Given the description of an element on the screen output the (x, y) to click on. 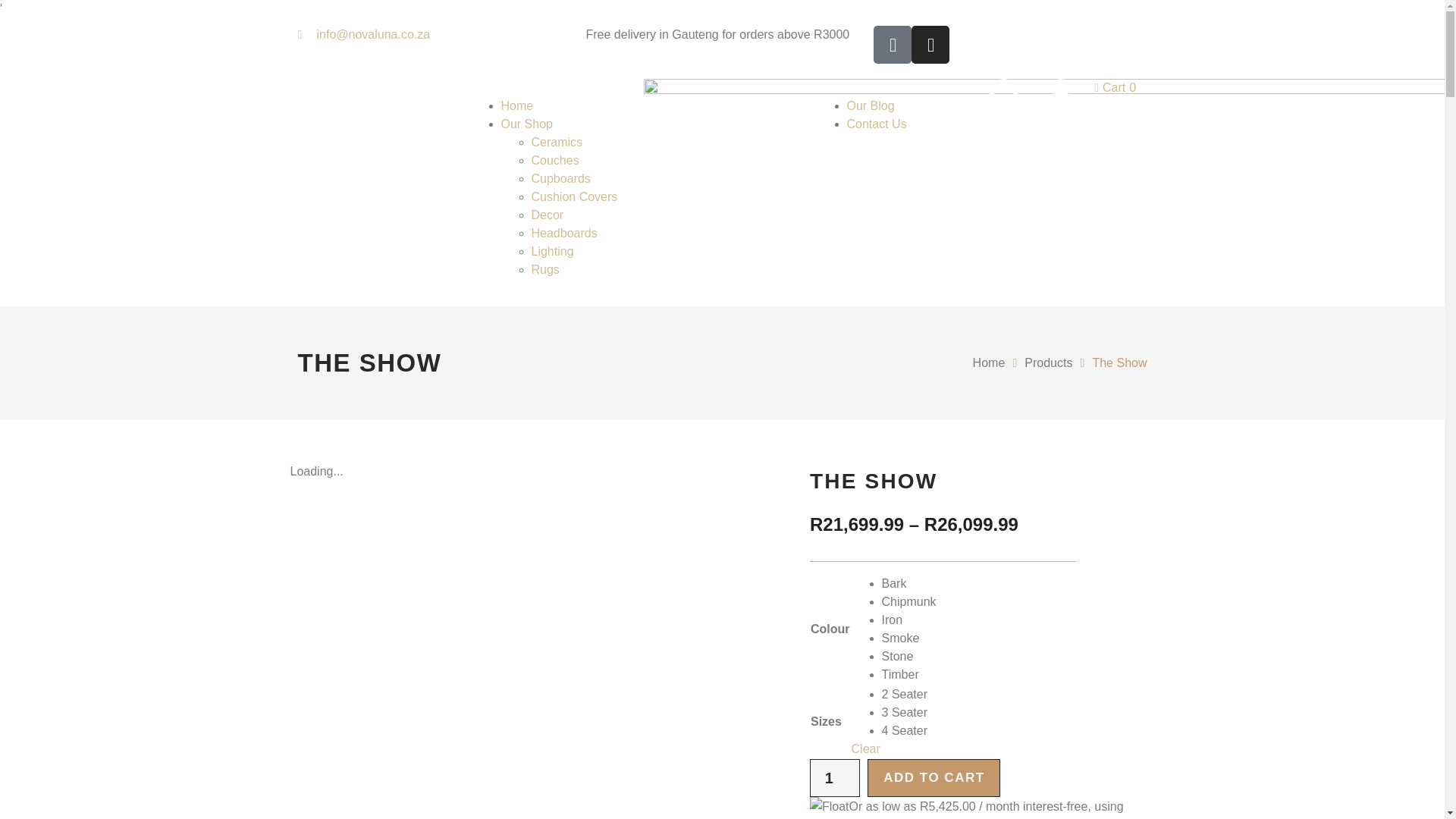
Products (1048, 362)
Lighting (552, 250)
Products (1048, 362)
Cupboards (1114, 87)
Rugs (560, 178)
Couches (545, 269)
Our Shop (554, 160)
Contact Us (525, 123)
1 (875, 123)
Decor (834, 777)
Headboards (547, 214)
Ceramics (563, 232)
Home (556, 141)
Chipmunk (989, 362)
